Given the description of an element on the screen output the (x, y) to click on. 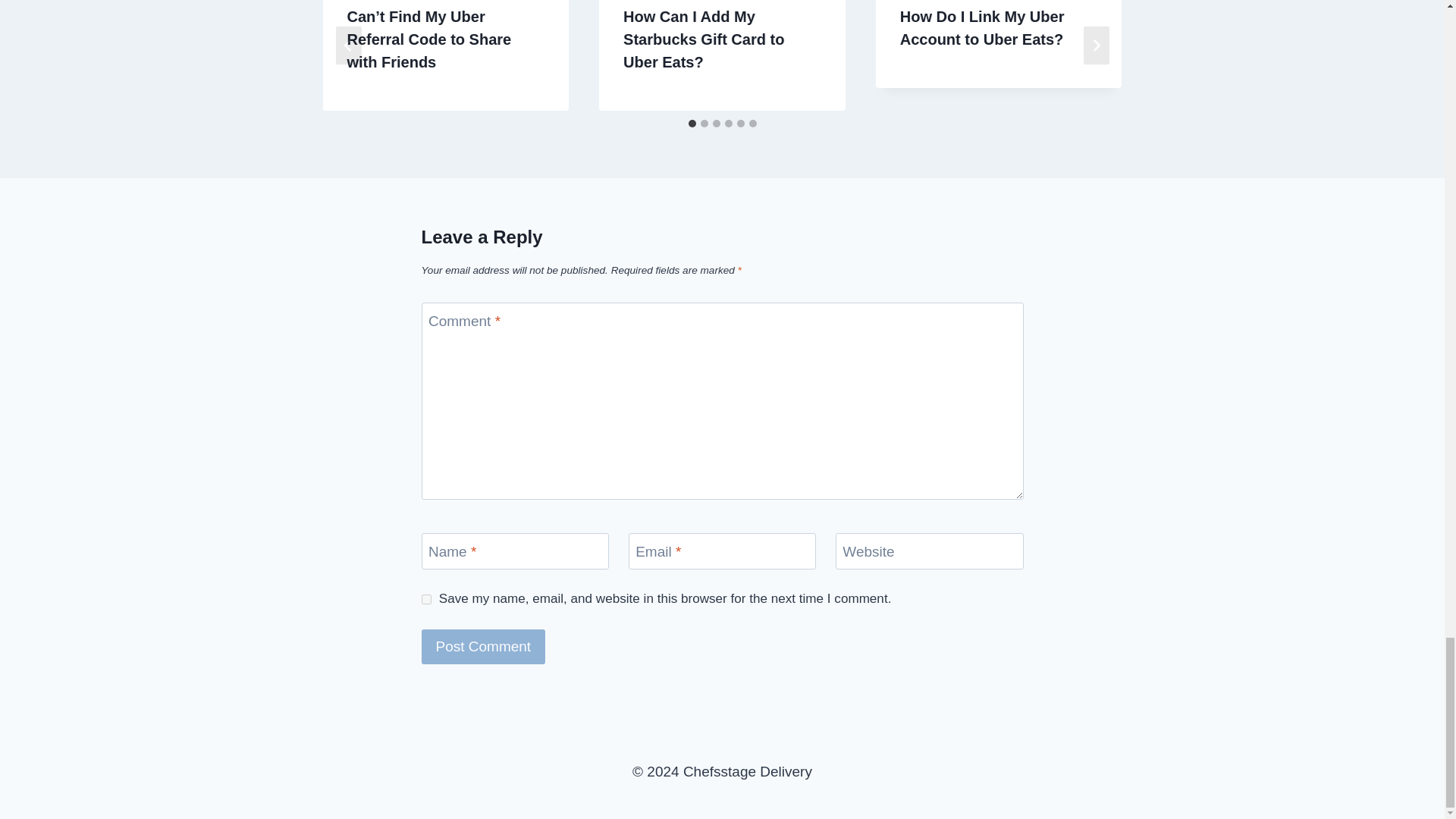
yes (426, 599)
Post Comment (484, 646)
